Given the description of an element on the screen output the (x, y) to click on. 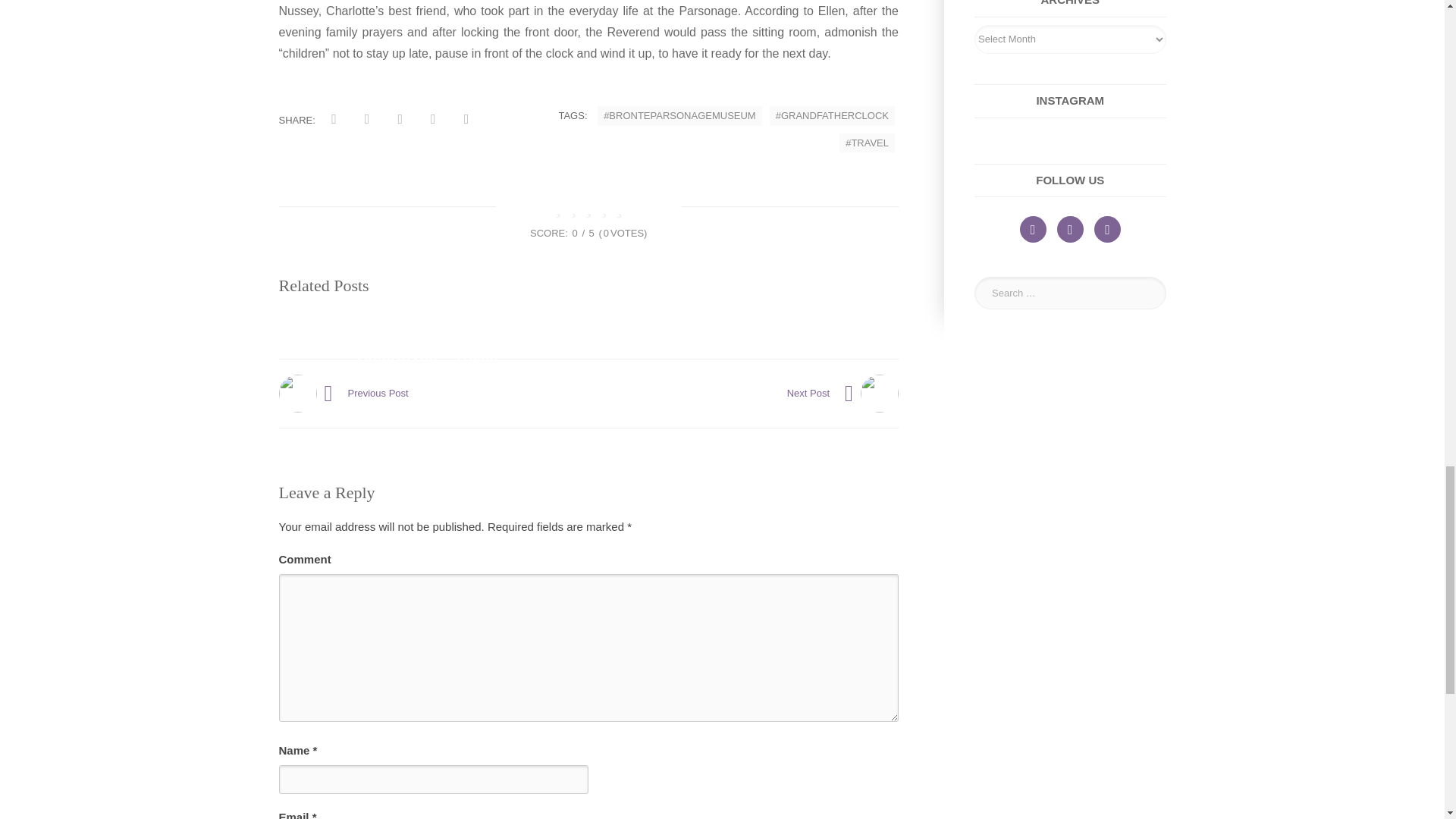
2 Stars (573, 208)
5 Stars (619, 208)
4 Stars (603, 208)
3 Stars (588, 208)
1 Star (557, 208)
